Given the description of an element on the screen output the (x, y) to click on. 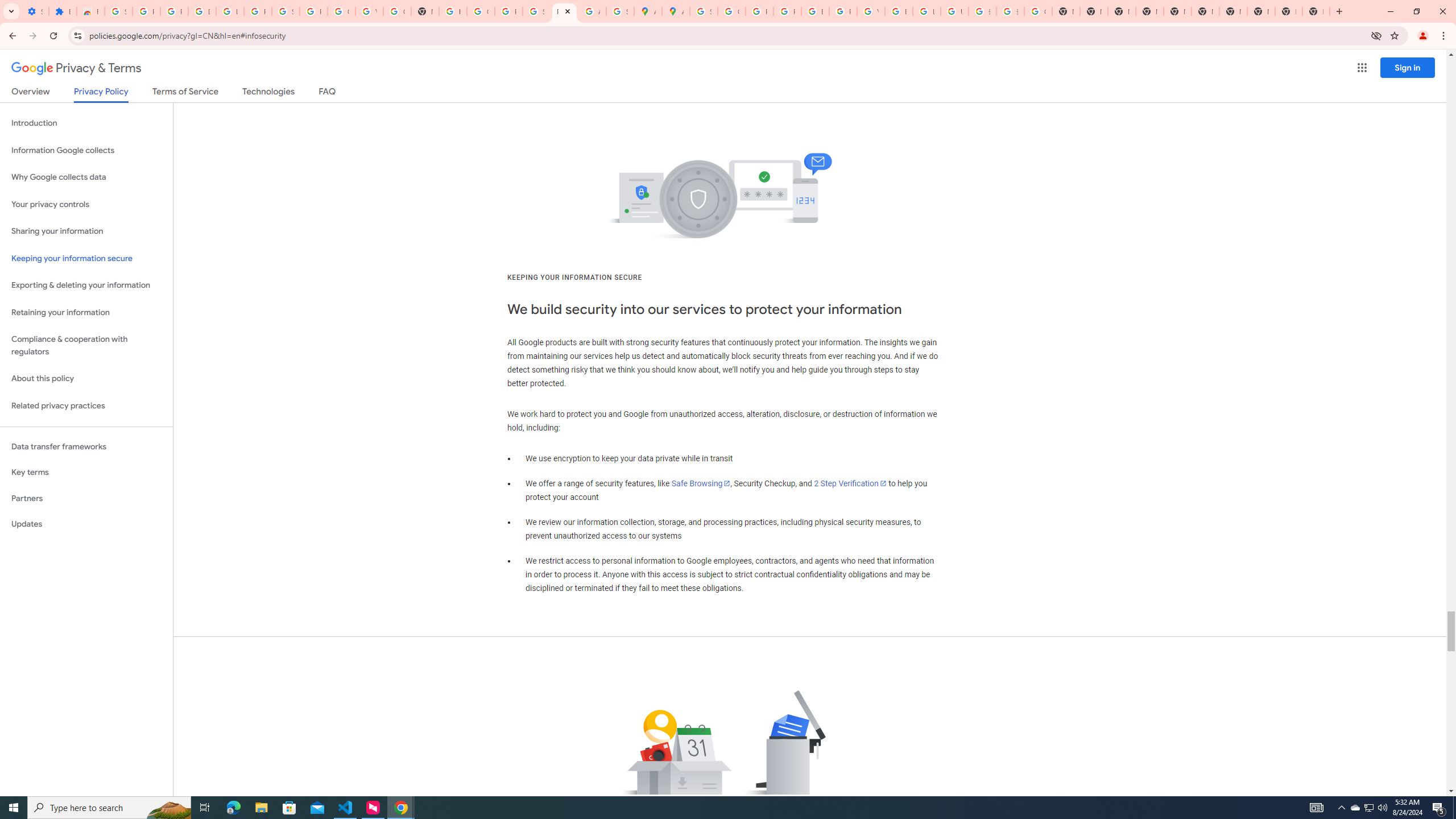
Sign in - Google Accounts (285, 11)
